Given the description of an element on the screen output the (x, y) to click on. 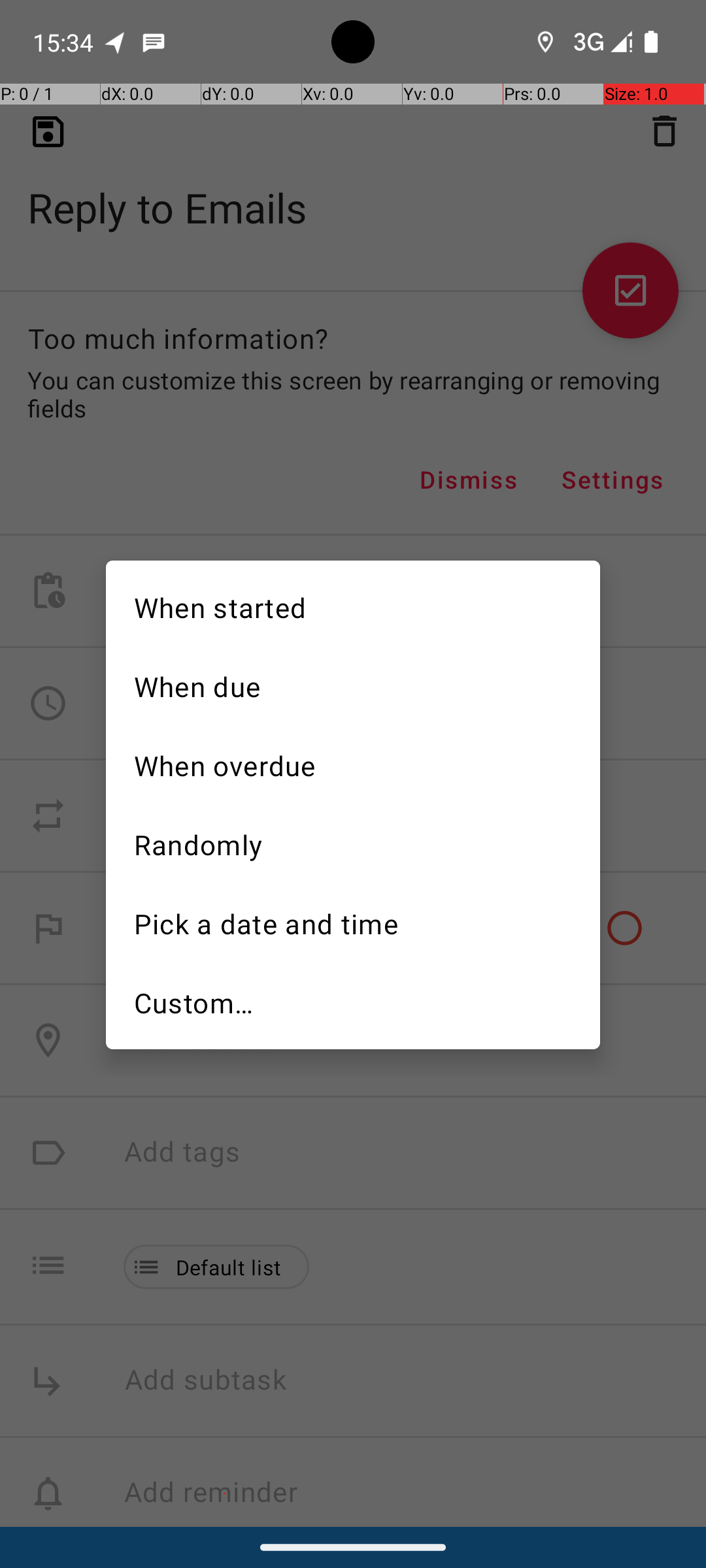
When started Element type: android.widget.TextView (352, 605)
When due Element type: android.widget.TextView (352, 684)
When overdue Element type: android.widget.TextView (352, 763)
Randomly Element type: android.widget.TextView (352, 842)
Pick a date and time Element type: android.widget.TextView (352, 921)
Custom… Element type: android.widget.TextView (352, 1002)
